Given the description of an element on the screen output the (x, y) to click on. 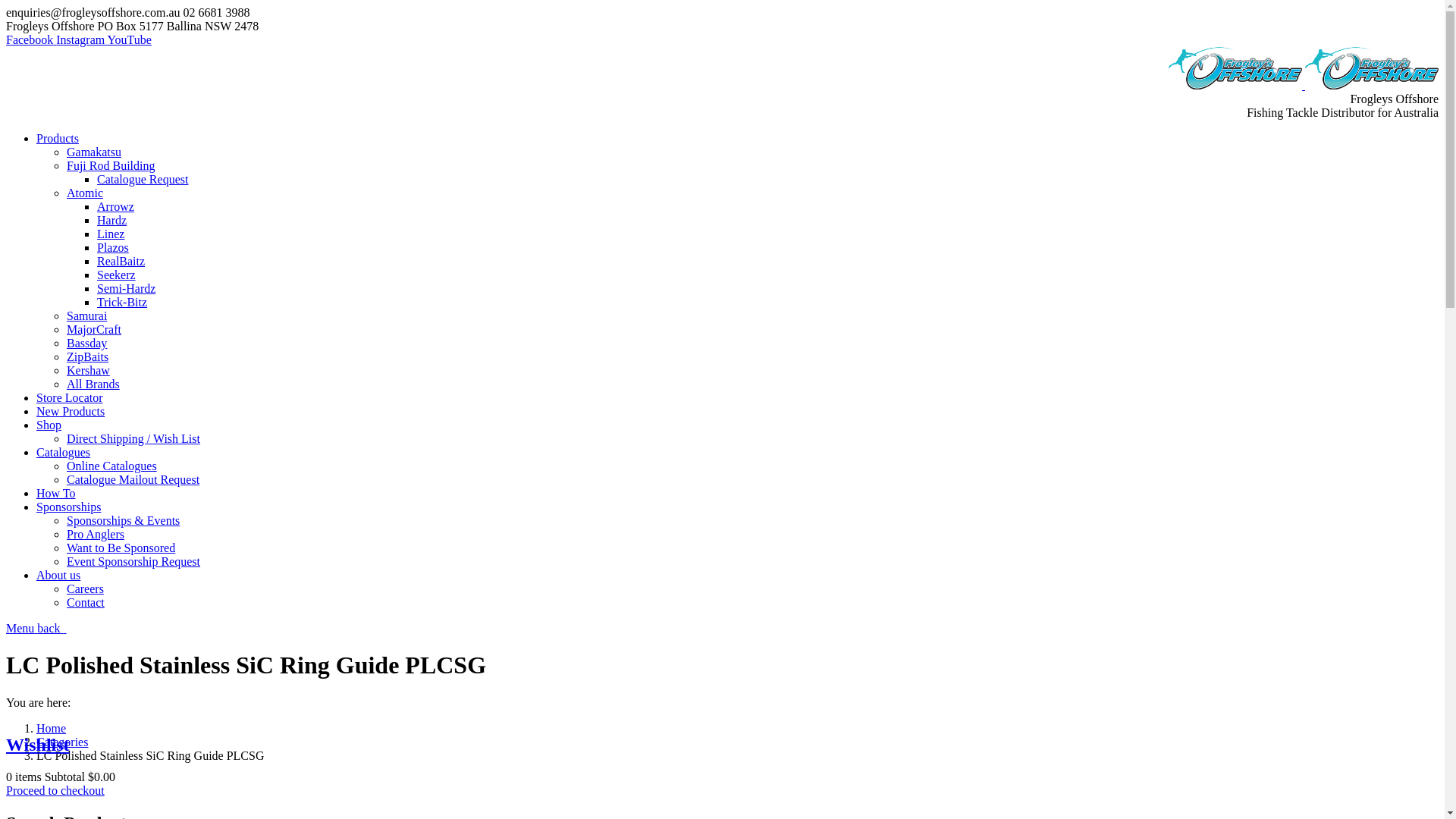
Linez Element type: text (110, 233)
Kershaw Element type: text (87, 370)
Products Element type: text (57, 137)
Semi-Hardz Element type: text (126, 288)
Sponsorships Element type: text (68, 506)
Shop Element type: text (48, 424)
Catalogues Element type: text (63, 451)
ZipBaits Element type: text (87, 356)
Direct Shipping / Wish List Element type: text (133, 438)
Fuji Rod Building Element type: text (110, 165)
Contact Element type: text (85, 602)
Careers Element type: text (84, 588)
Seekerz Element type: text (116, 274)
Online Catalogues Element type: text (111, 465)
Sponsorships & Events Element type: text (122, 520)
Store Locator Element type: text (69, 397)
Catalogue Mailout Request Element type: text (132, 479)
Atomic Element type: text (84, 192)
Facebook Element type: text (31, 39)
Gamakatsu Element type: text (93, 151)
Bassday Element type: text (86, 342)
Arrowz Element type: text (115, 206)
RealBaitz Element type: text (120, 260)
About us Element type: text (58, 574)
Wishlist Element type: text (37, 744)
All Brands Element type: text (92, 383)
Event Sponsorship Request Element type: text (133, 561)
Hardz Element type: text (111, 219)
Want to Be Sponsored Element type: text (120, 547)
MajorCraft Element type: text (93, 329)
Menu back   Element type: text (36, 627)
Trick-Bitz Element type: text (122, 301)
Plazos Element type: text (112, 247)
New Products Element type: text (70, 410)
How To Element type: text (55, 492)
Home Element type: text (50, 727)
Categories Element type: text (61, 741)
Instagram Element type: text (81, 39)
Samurai Element type: text (86, 315)
Catalogue Request Element type: text (142, 178)
Pro Anglers Element type: text (95, 533)
YouTube Element type: text (129, 39)
Proceed to checkout Element type: text (55, 790)
